Given the description of an element on the screen output the (x, y) to click on. 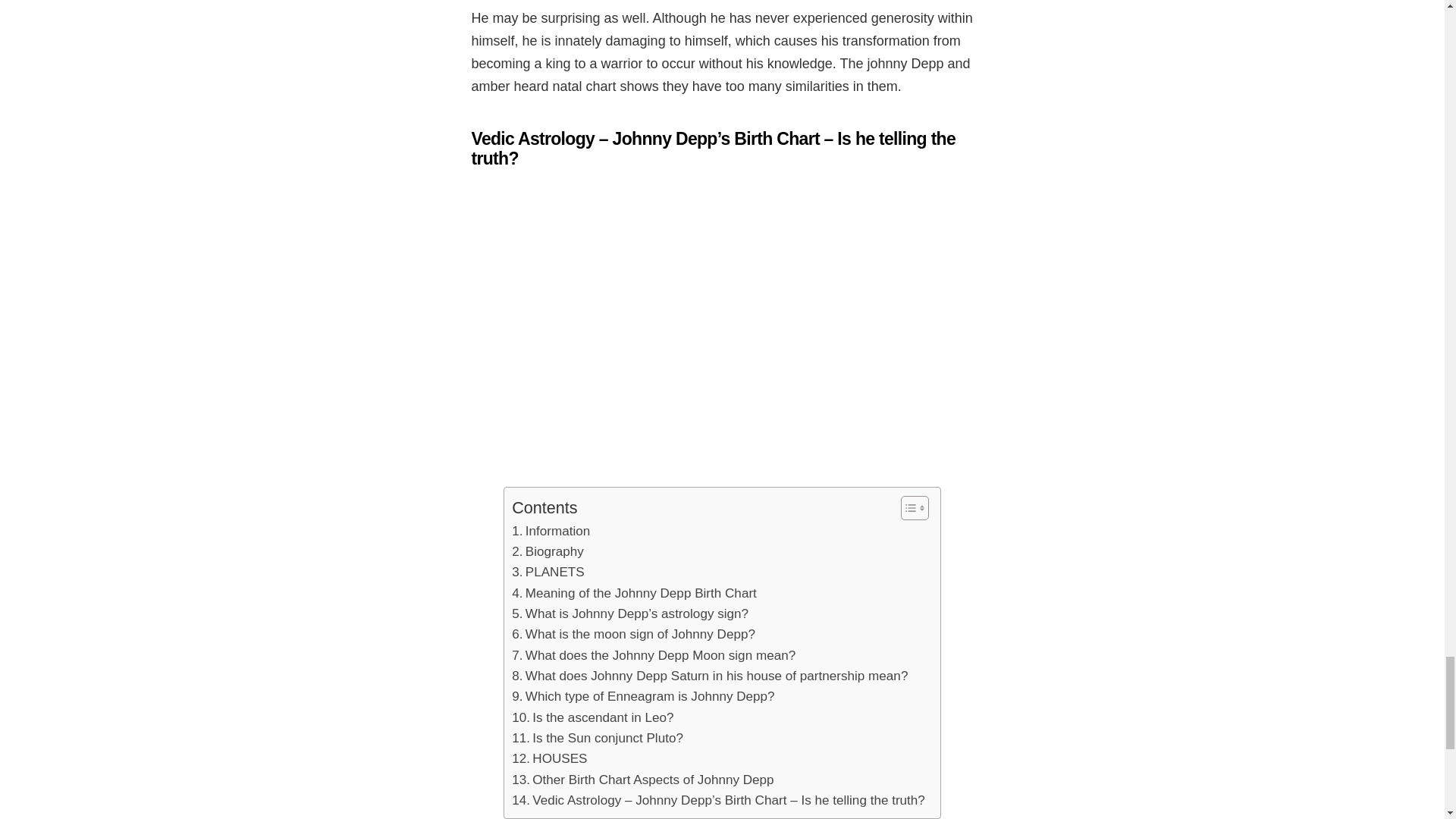
HOUSES (549, 758)
Other Birth Chart Aspects of Johnny Depp (642, 779)
Is the ascendant in Leo? (592, 717)
Which type of Enneagram is Johnny Depp? (643, 696)
Information (550, 530)
What does the Johnny Depp Moon sign mean? (653, 655)
Meaning of the Johnny Depp Birth Chart (634, 593)
What is the moon sign of Johnny Depp? (633, 634)
